Given the description of an element on the screen output the (x, y) to click on. 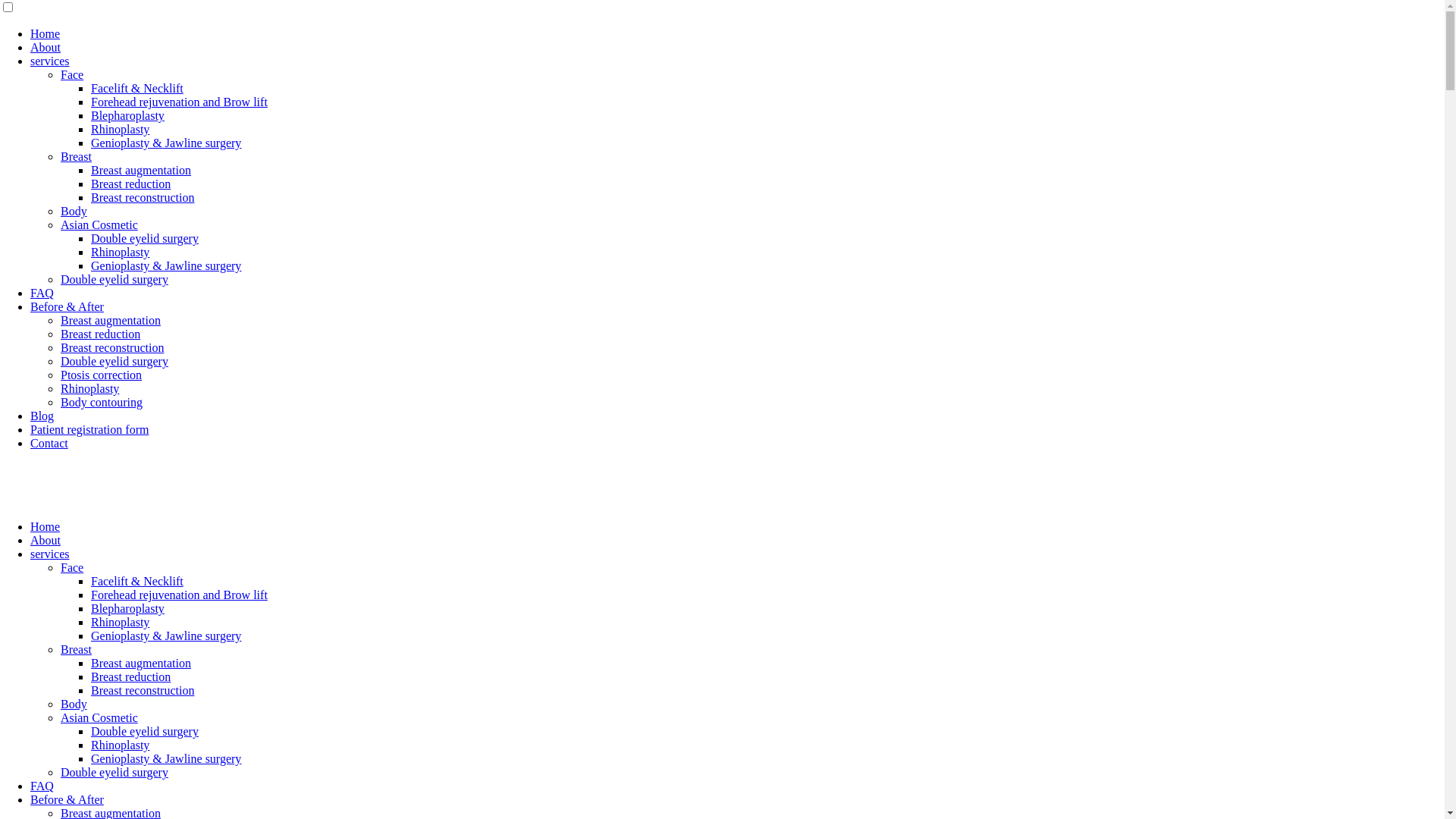
Double eyelid surgery Element type: text (114, 771)
Rhinoplasty Element type: text (120, 251)
Double eyelid surgery Element type: text (144, 730)
Body Element type: text (73, 703)
About Element type: text (45, 539)
Genioplasty & Jawline surgery Element type: text (166, 635)
Breast reduction Element type: text (100, 333)
Double eyelid surgery Element type: text (114, 360)
Face Element type: text (71, 74)
Rhinoplasty Element type: text (120, 621)
Home Element type: text (44, 33)
Double eyelid surgery Element type: text (114, 279)
services Element type: text (49, 553)
Forehead rejuvenation and Brow lift Element type: text (179, 101)
Asian Cosmetic Element type: text (99, 224)
About Element type: text (45, 46)
Blog Element type: text (41, 415)
Blepharoplasty Element type: text (127, 115)
Rhinoplasty Element type: text (120, 744)
services Element type: text (49, 60)
Facelift & Necklift Element type: text (137, 580)
Blepharoplasty Element type: text (127, 608)
Asian Cosmetic Element type: text (99, 717)
Double eyelid surgery Element type: text (144, 238)
Genioplasty & Jawline surgery Element type: text (166, 265)
Breast augmentation Element type: text (141, 169)
Home Element type: text (44, 526)
Patient registration form Element type: text (89, 429)
Genioplasty & Jawline surgery Element type: text (166, 142)
Breast reduction Element type: text (130, 676)
Forehead rejuvenation and Brow lift Element type: text (179, 594)
Contact Element type: text (49, 442)
FAQ Element type: text (41, 292)
Facelift & Necklift Element type: text (137, 87)
Breast augmentation Element type: text (110, 319)
Breast reconstruction Element type: text (142, 690)
Face Element type: text (71, 567)
Breast reduction Element type: text (130, 183)
Breast reconstruction Element type: text (142, 197)
Ptosis correction Element type: text (100, 374)
Body Element type: text (73, 210)
Rhinoplasty Element type: text (89, 388)
Breast augmentation Element type: text (141, 662)
Before & After Element type: text (66, 306)
Body contouring Element type: text (101, 401)
Breast Element type: text (75, 649)
Rhinoplasty Element type: text (120, 128)
Breast Element type: text (75, 156)
Genioplasty & Jawline surgery Element type: text (166, 758)
FAQ Element type: text (41, 785)
Breast reconstruction Element type: text (111, 347)
Before & After Element type: text (66, 799)
